Given the description of an element on the screen output the (x, y) to click on. 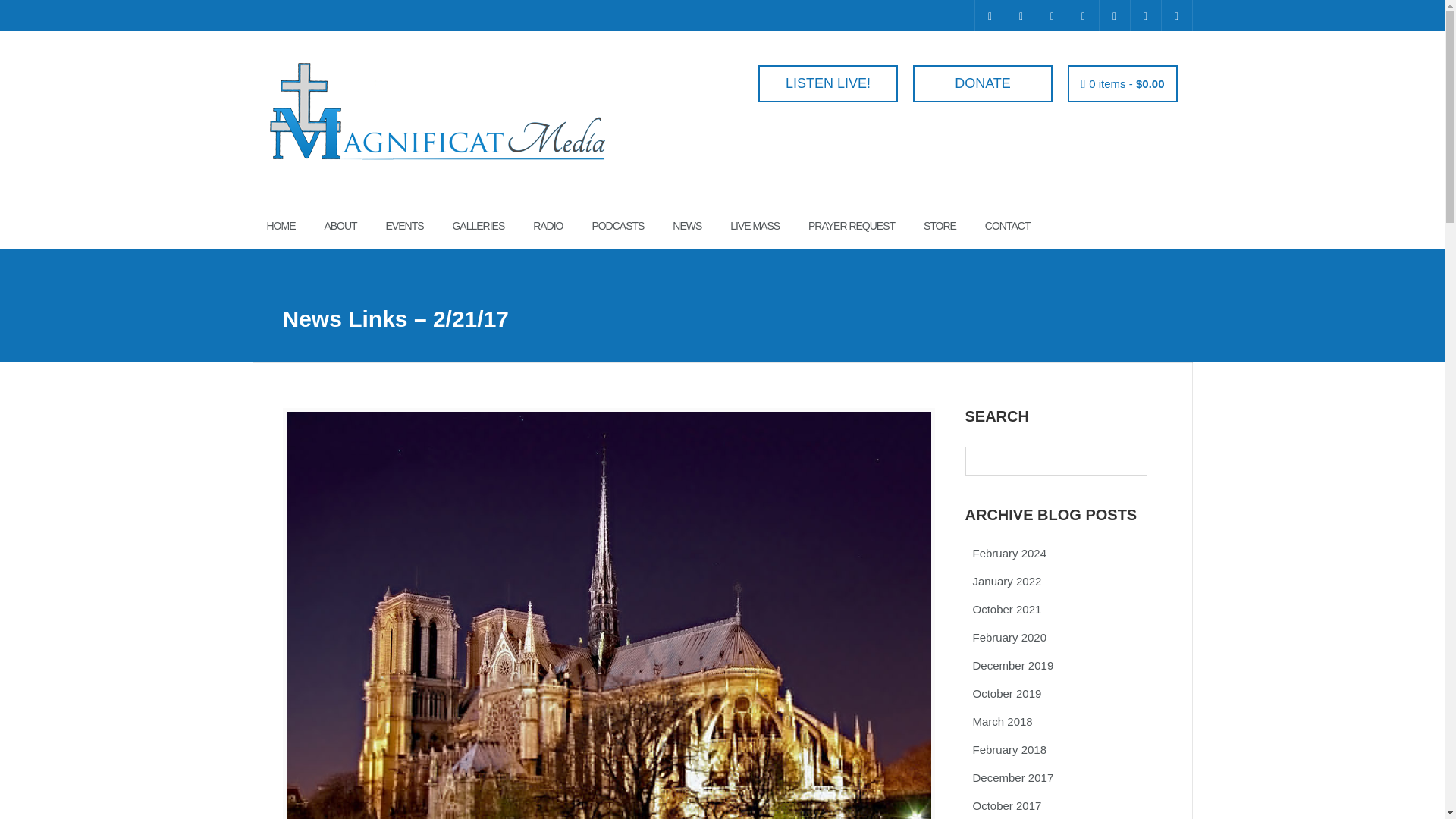
LISTEN LIVE! (826, 83)
HOME (279, 225)
STORE (939, 225)
DONATE (982, 83)
Search (22, 8)
ABOUT (339, 225)
LinkedIn (1114, 15)
PRAYER REQUEST (850, 225)
RADIO (547, 225)
NEWS (687, 225)
YouTube (1082, 15)
Facebook (990, 15)
DONATE (979, 82)
EVENTS (404, 225)
Instagram (1051, 15)
